Given the description of an element on the screen output the (x, y) to click on. 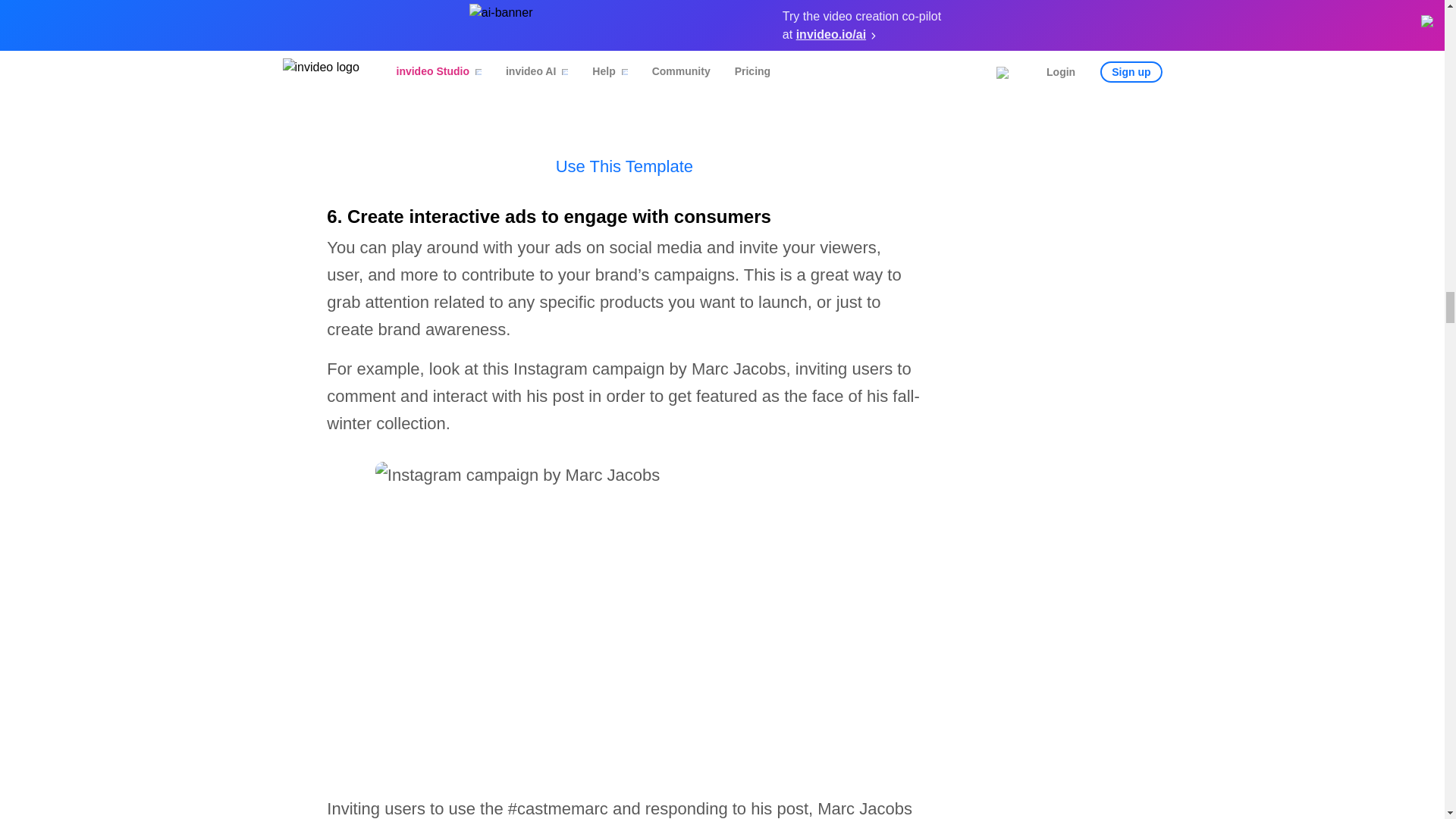
Use This Template (624, 166)
